Given the description of an element on the screen output the (x, y) to click on. 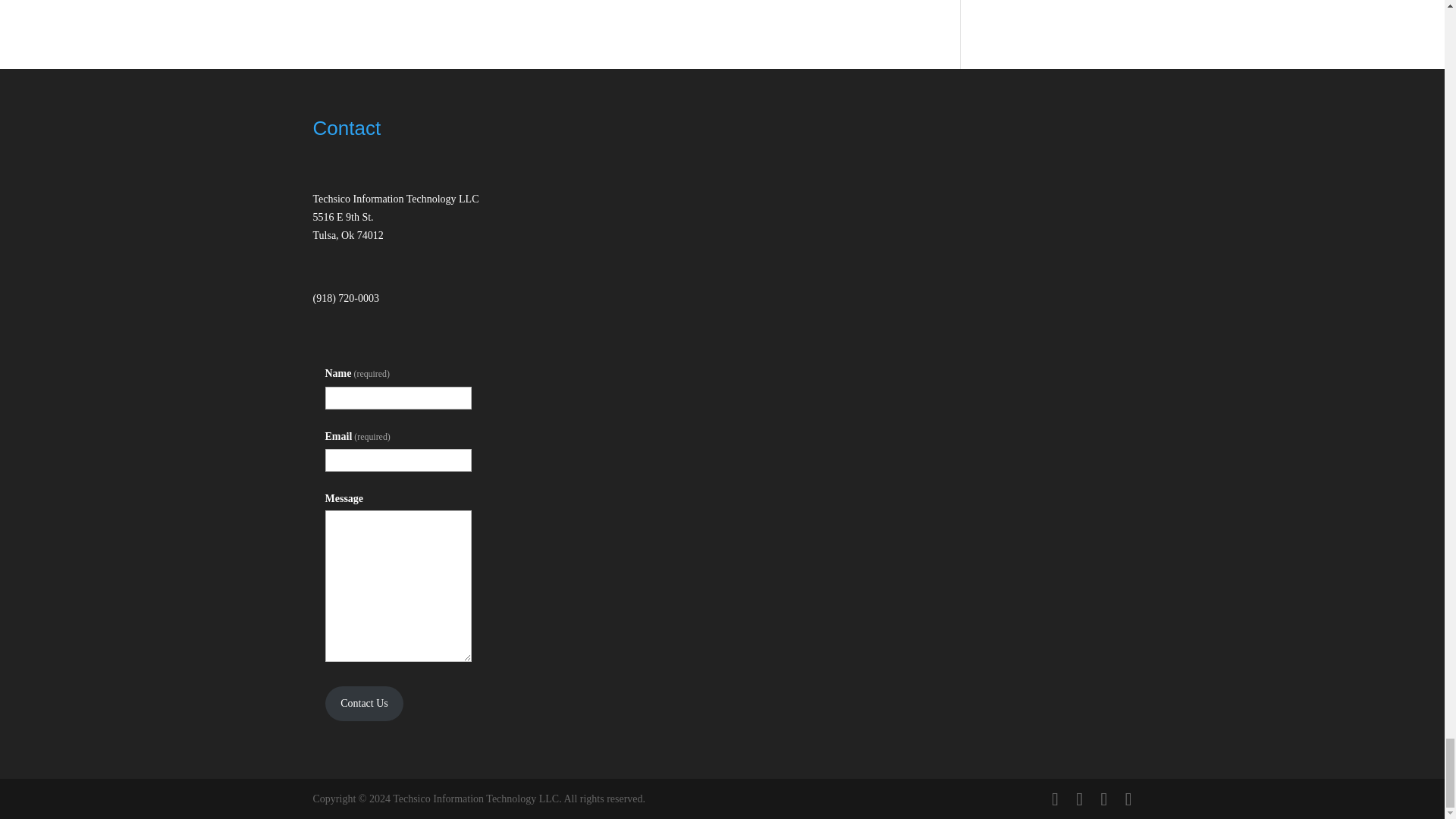
Contact Us (363, 703)
